Given the description of an element on the screen output the (x, y) to click on. 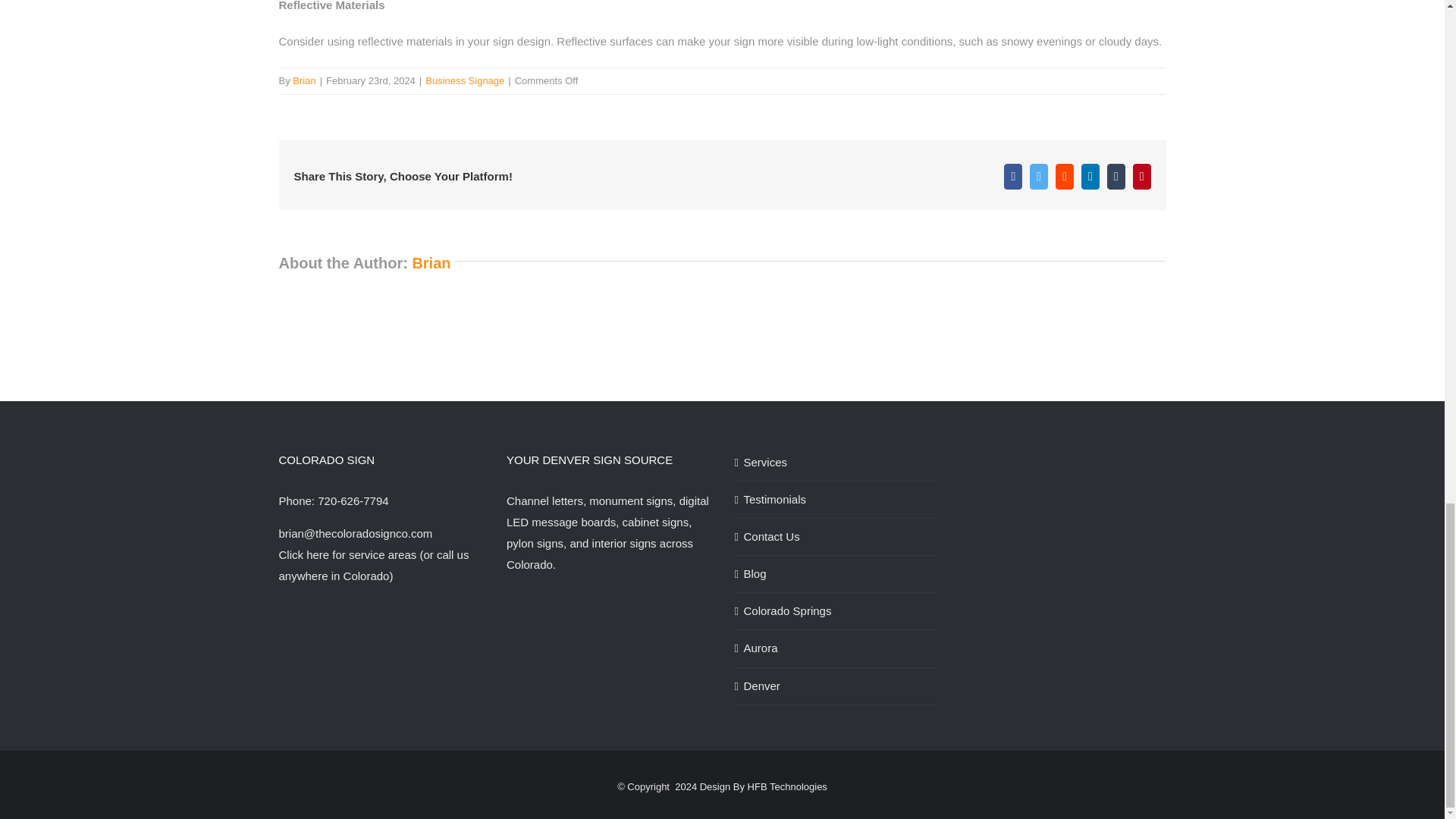
Cabinet Signs (655, 521)
Posts by Brian (430, 262)
Posts by Brian (303, 80)
Monument (630, 500)
Cabinet Signs (624, 543)
Channel (544, 500)
Business Signage (464, 80)
Pylon Signs (534, 543)
Brian (303, 80)
